Given the description of an element on the screen output the (x, y) to click on. 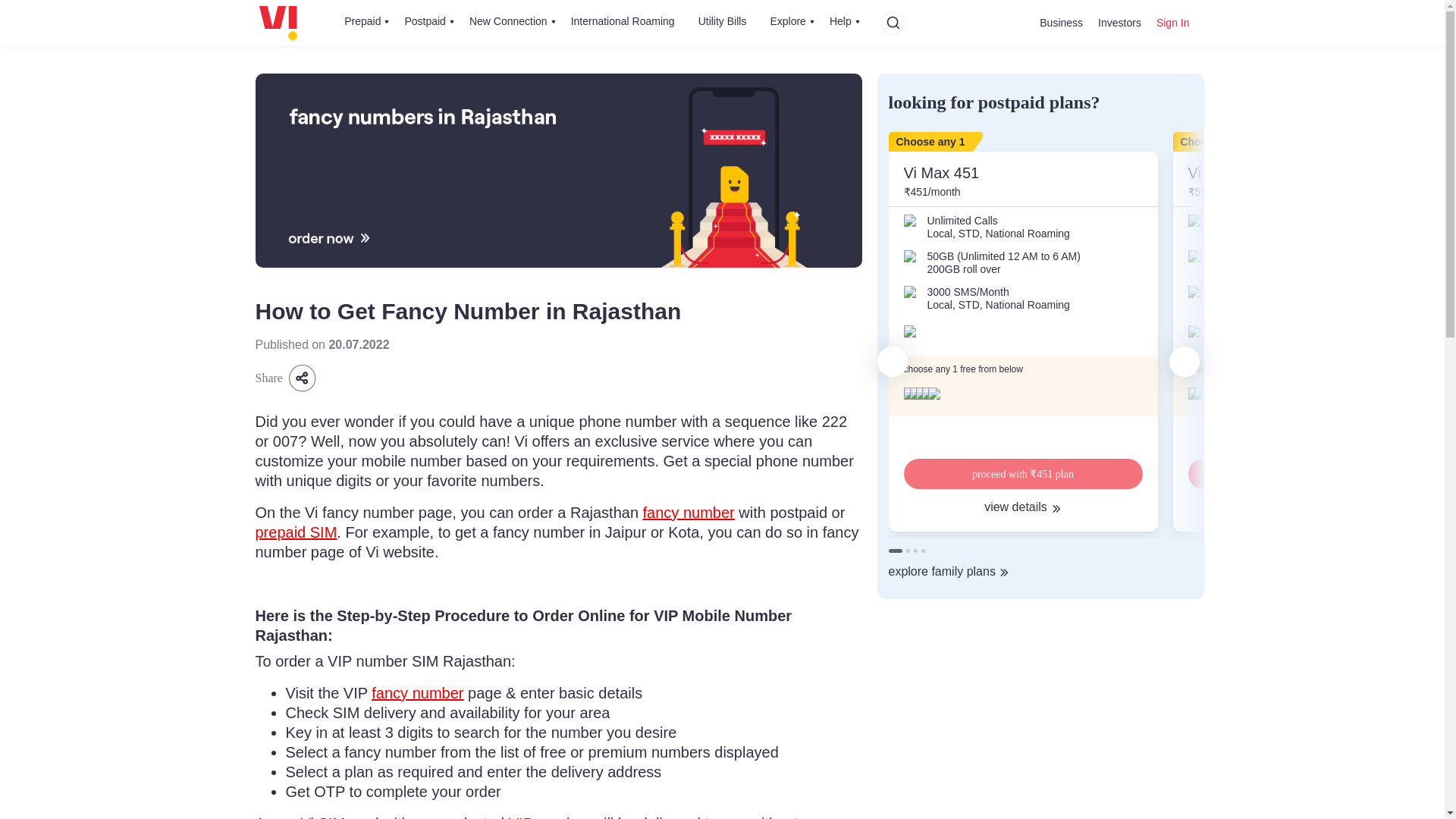
Prepaid (366, 22)
New Connection (512, 22)
Vi (276, 22)
Postpaid (428, 22)
